Given the description of an element on the screen output the (x, y) to click on. 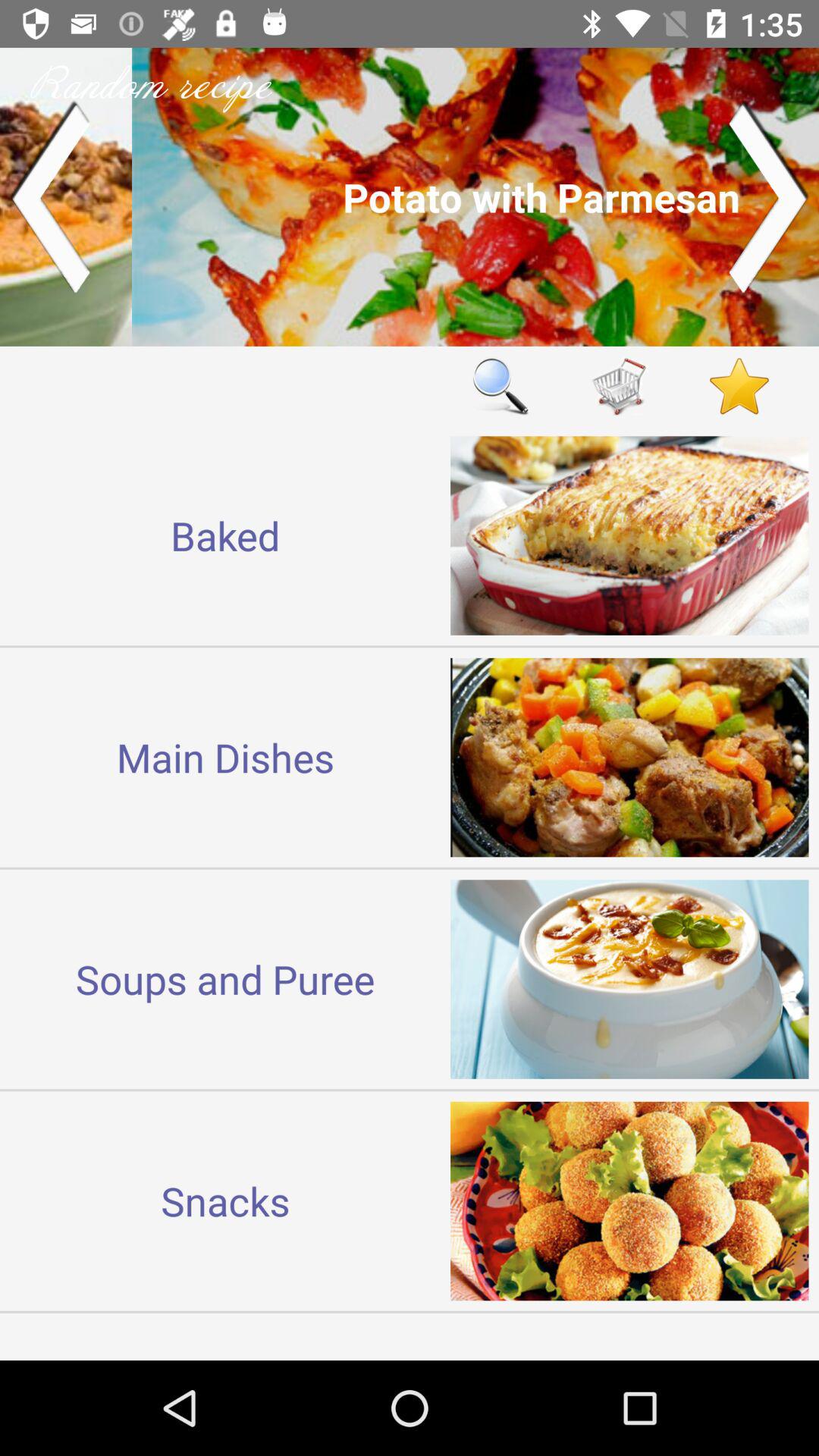
show favorites (739, 385)
